Given the description of an element on the screen output the (x, y) to click on. 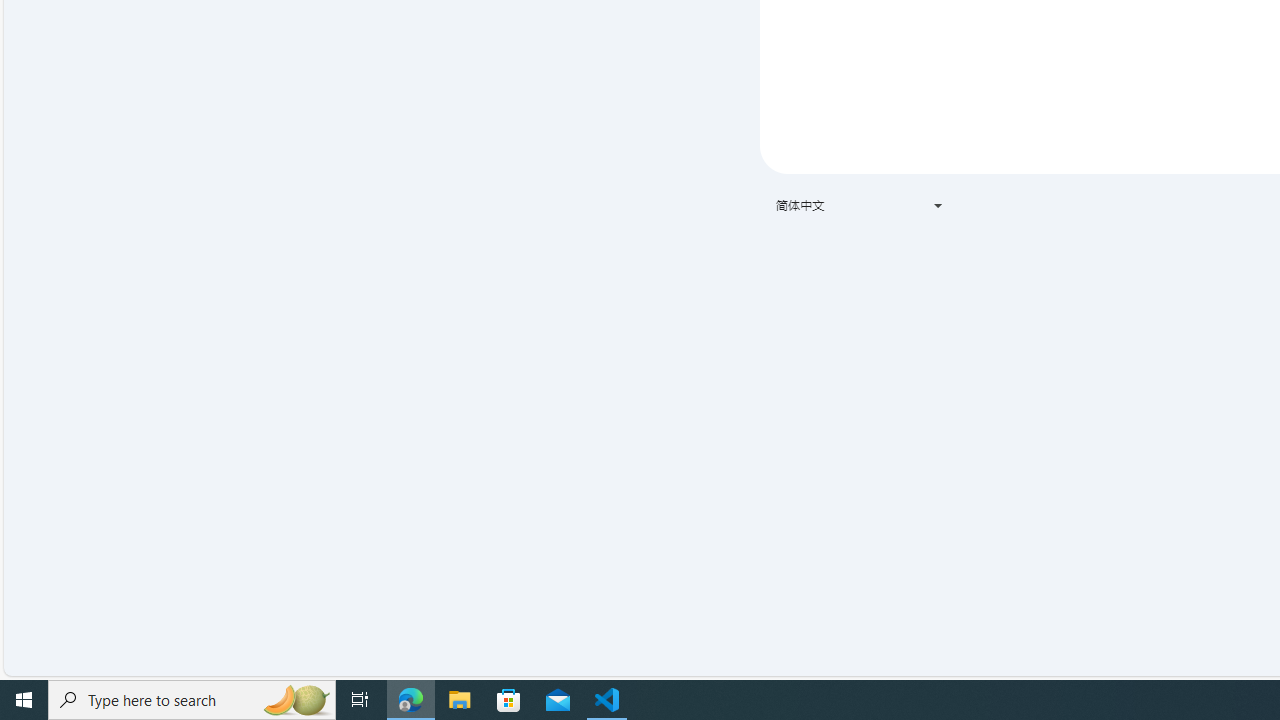
Class: VfPpkd-t08AT-Bz112c-Bd00G (938, 205)
